Given the description of an element on the screen output the (x, y) to click on. 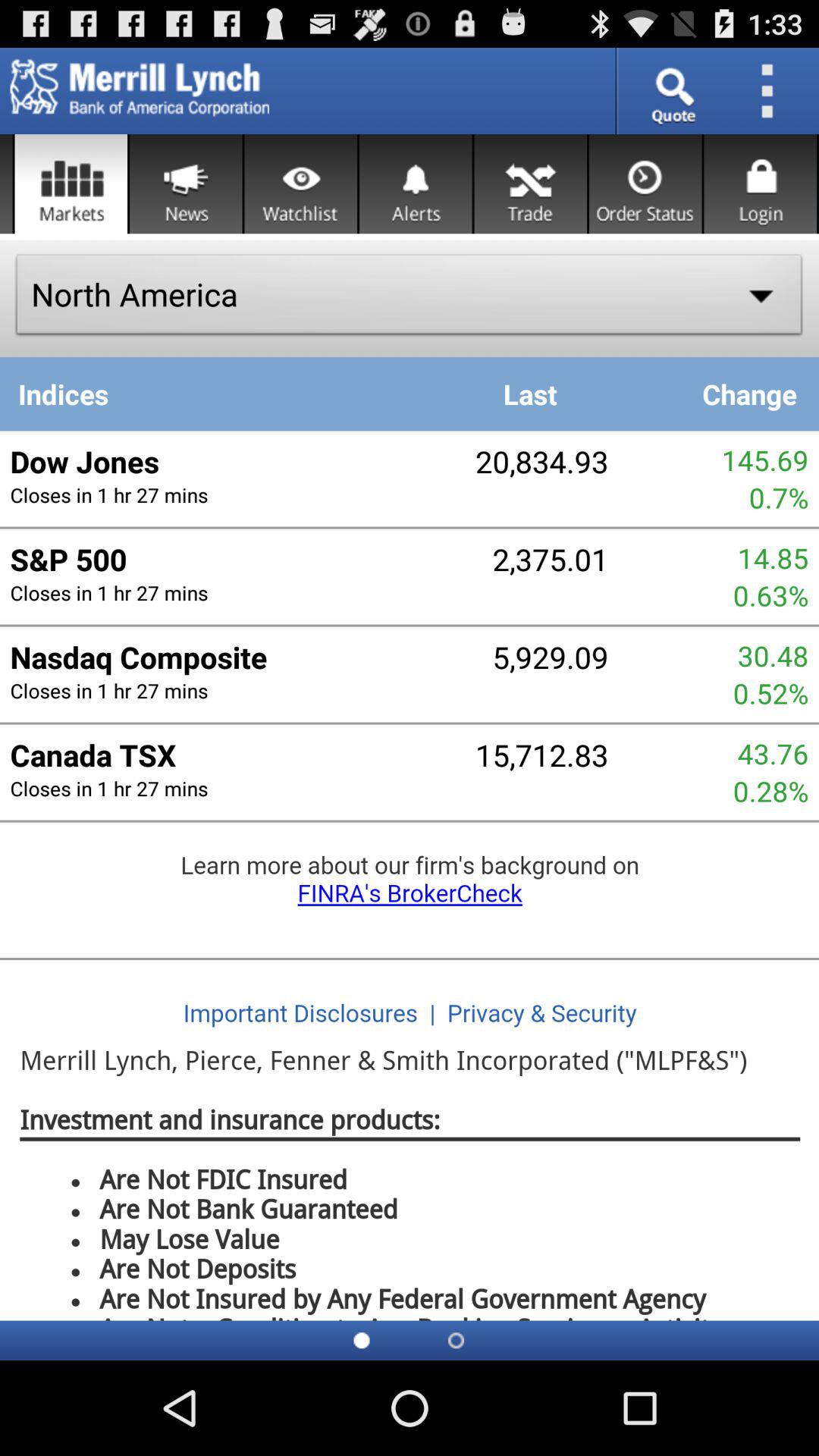
shuffle (530, 183)
